Given the description of an element on the screen output the (x, y) to click on. 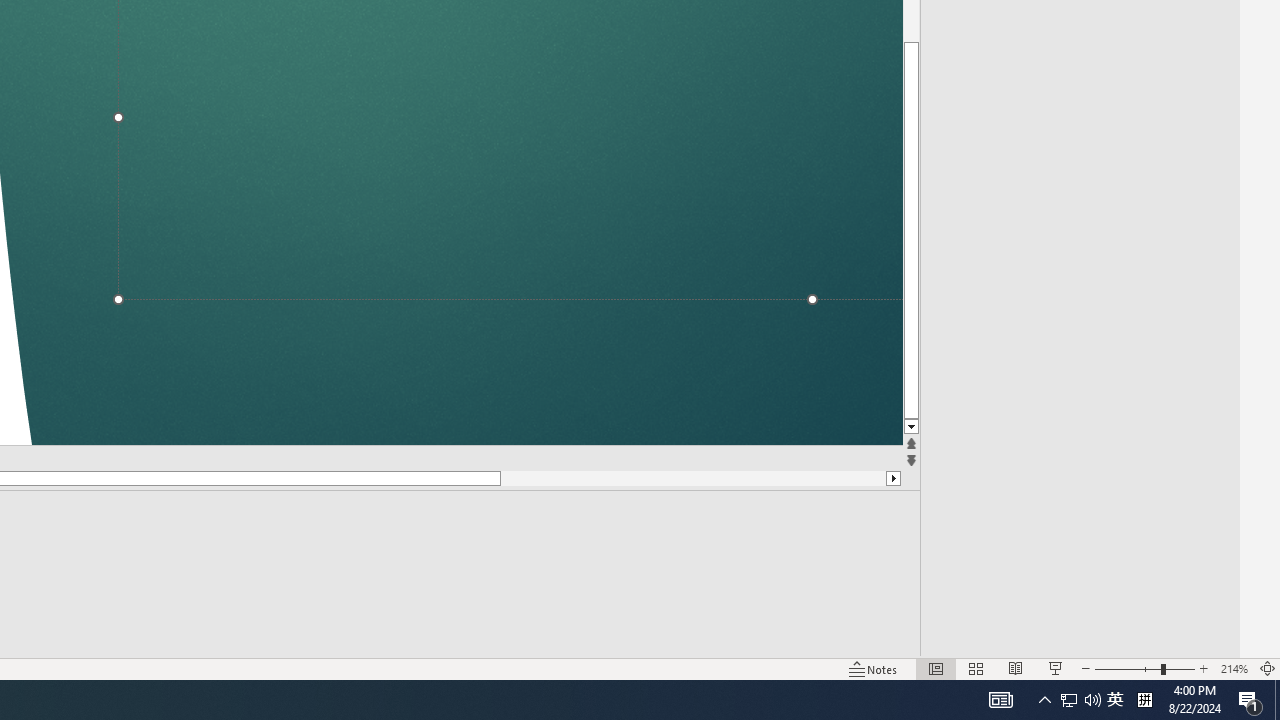
Page down (561, 478)
Zoom 214% (1234, 668)
